Given the description of an element on the screen output the (x, y) to click on. 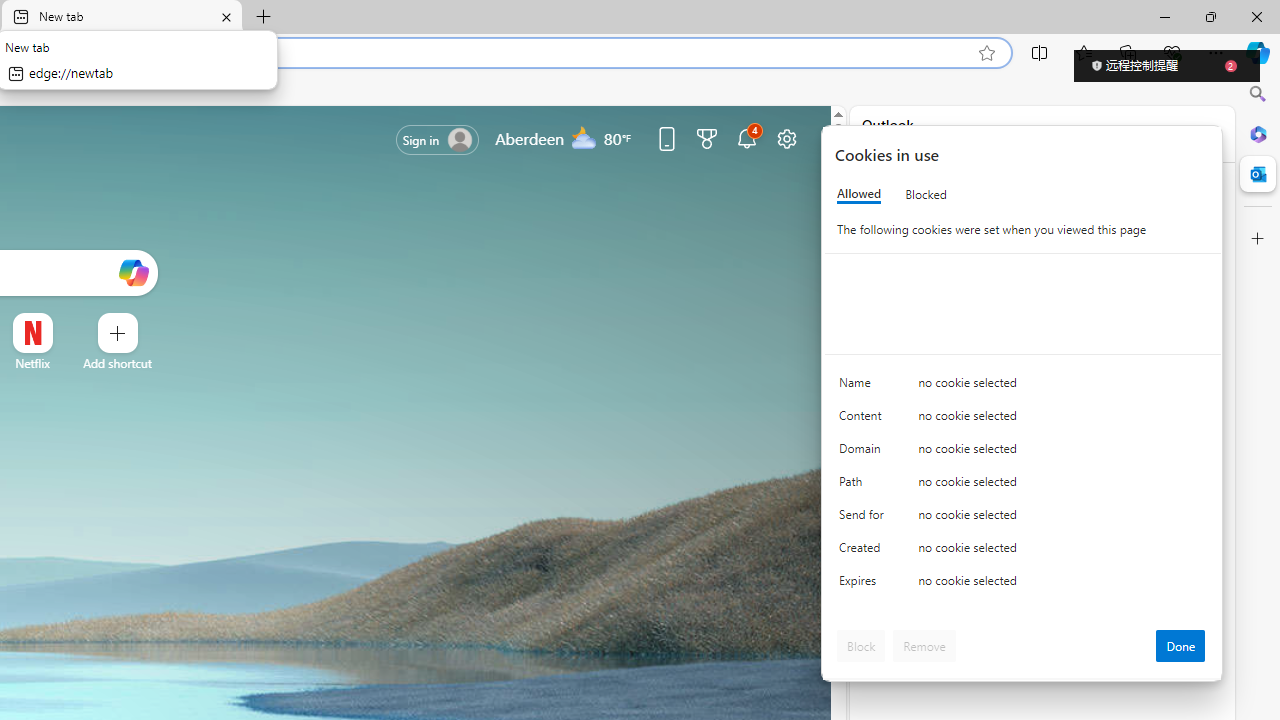
Created (864, 552)
Content (864, 420)
Expires (864, 585)
Unpin side pane (1153, 134)
